Given the description of an element on the screen output the (x, y) to click on. 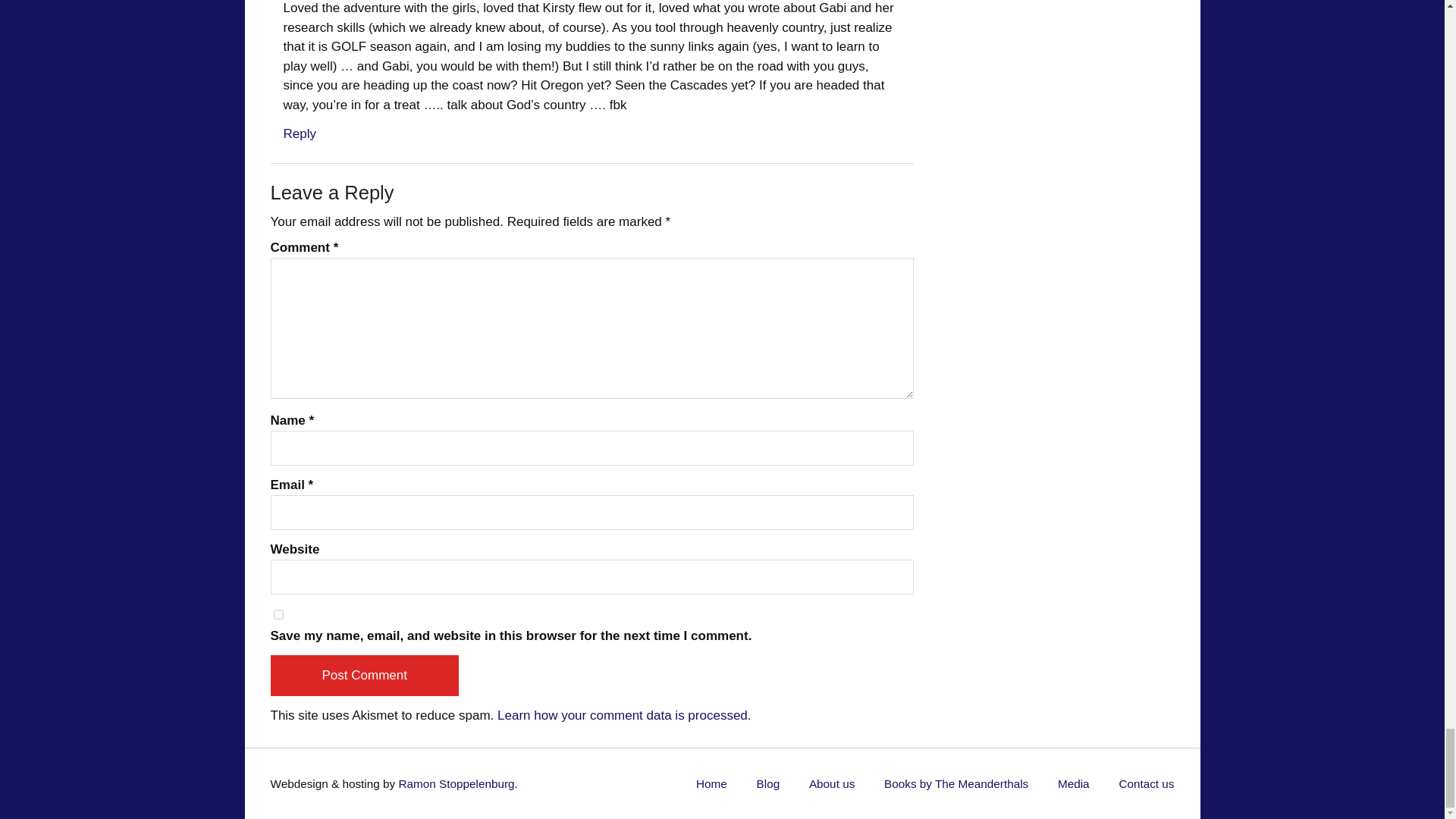
Post Comment (363, 675)
yes (277, 614)
Post Comment (363, 675)
Learn how your comment data is processed (622, 715)
Reply (299, 133)
